Given the description of an element on the screen output the (x, y) to click on. 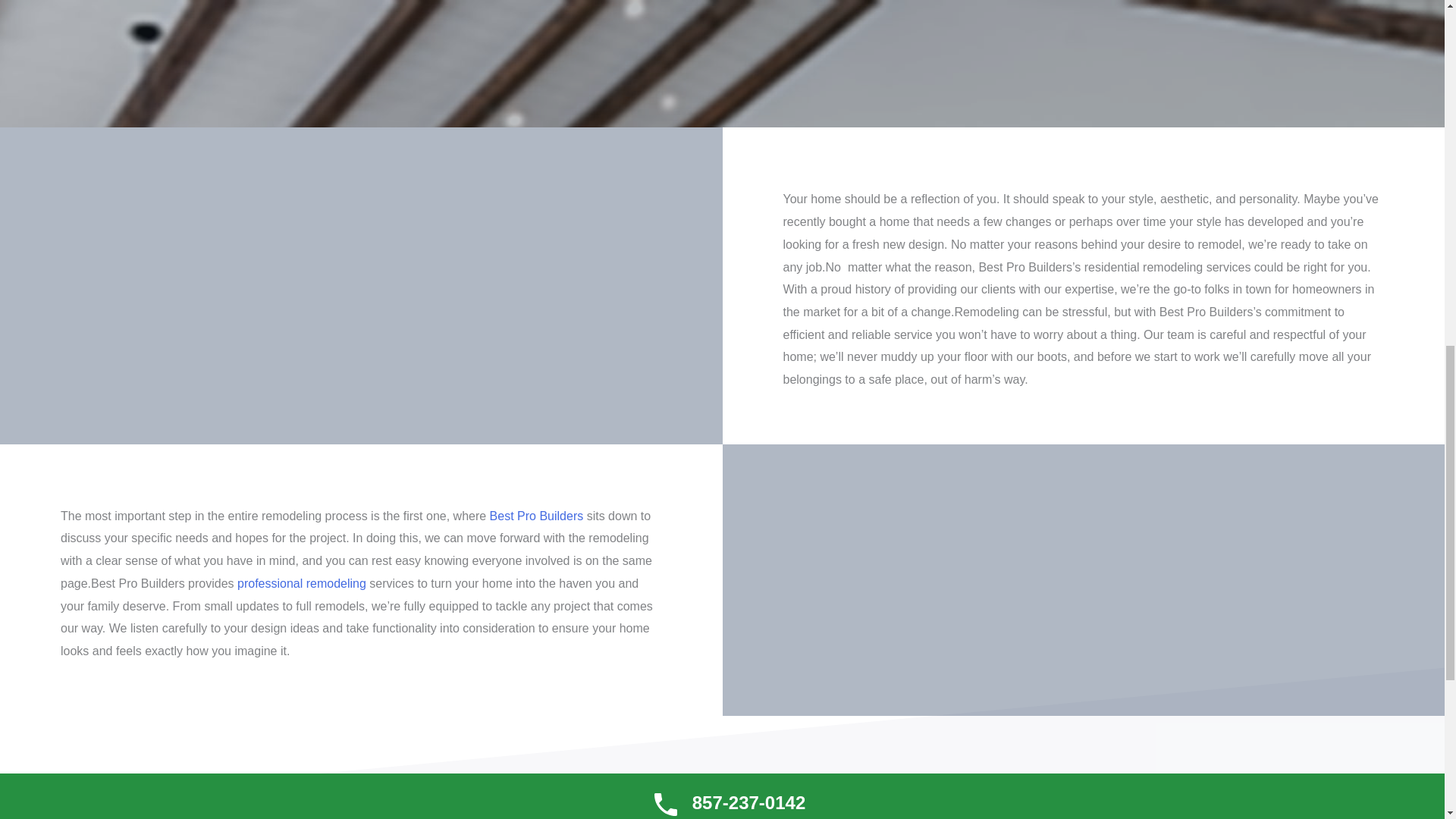
Best Pro Builders (536, 515)
professional remodeling (301, 583)
